Given the description of an element on the screen output the (x, y) to click on. 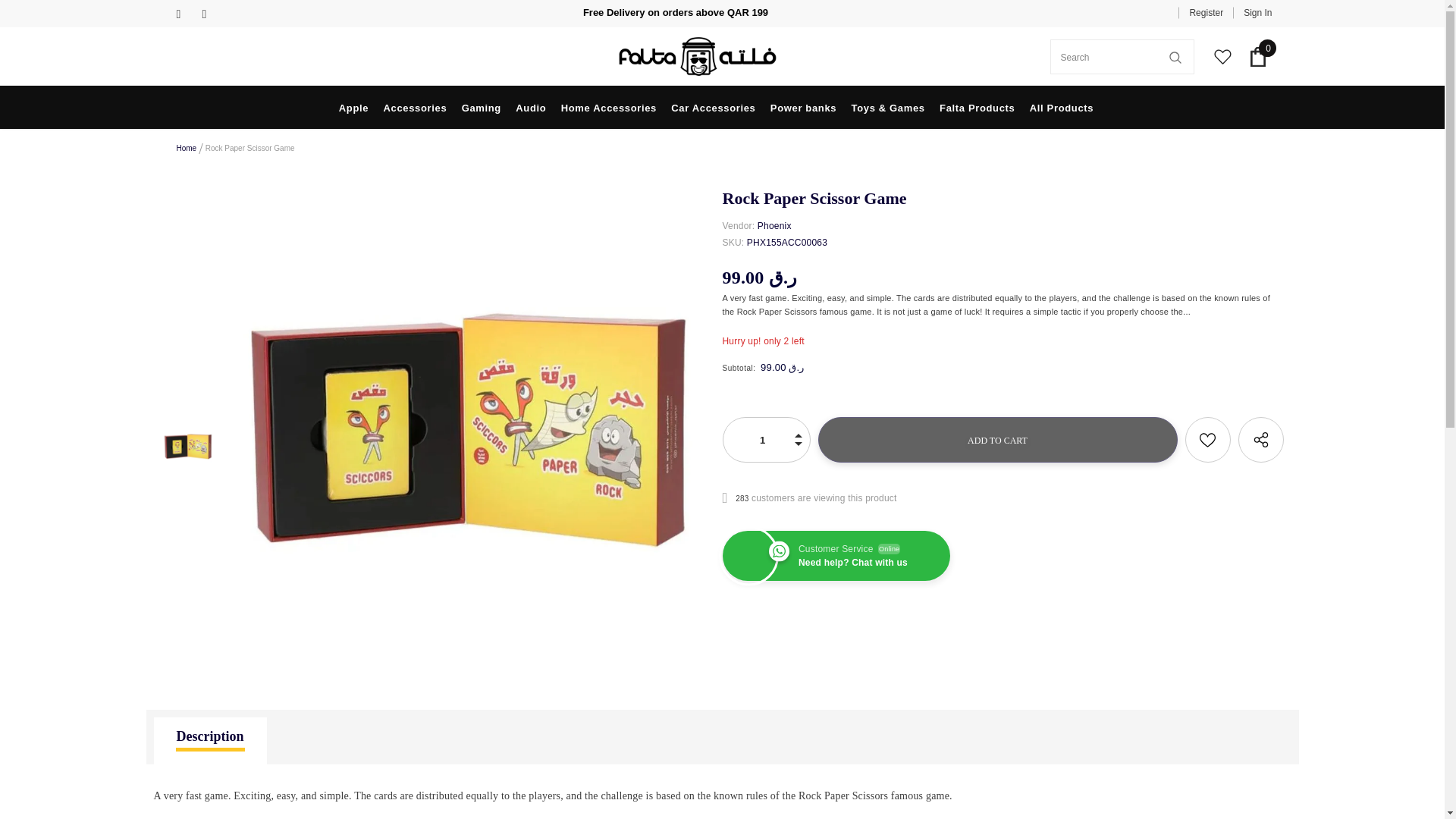
0 (1257, 56)
Sign In (1252, 12)
Falta Products (976, 107)
Add to cart (996, 439)
Register (1206, 12)
Accessories (415, 107)
Home Accessories (608, 107)
Gaming (480, 107)
Facebook (185, 14)
Audio (530, 107)
